Given the description of an element on the screen output the (x, y) to click on. 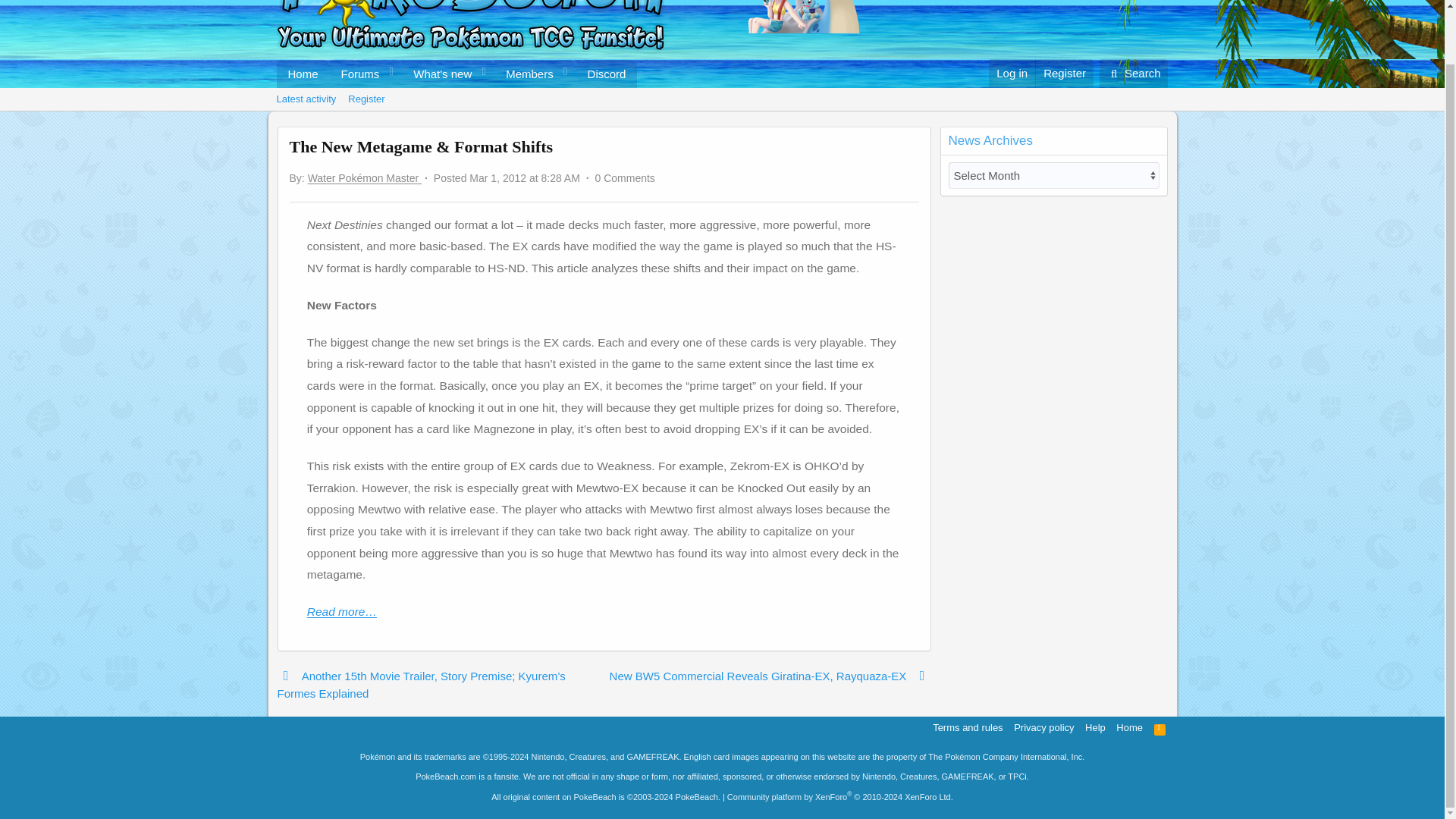
What's new (437, 73)
Log in (1011, 72)
Search (1134, 72)
RSS (1160, 727)
Home (302, 73)
Register (456, 90)
Latest activity (1064, 72)
Register (305, 98)
